Given the description of an element on the screen output the (x, y) to click on. 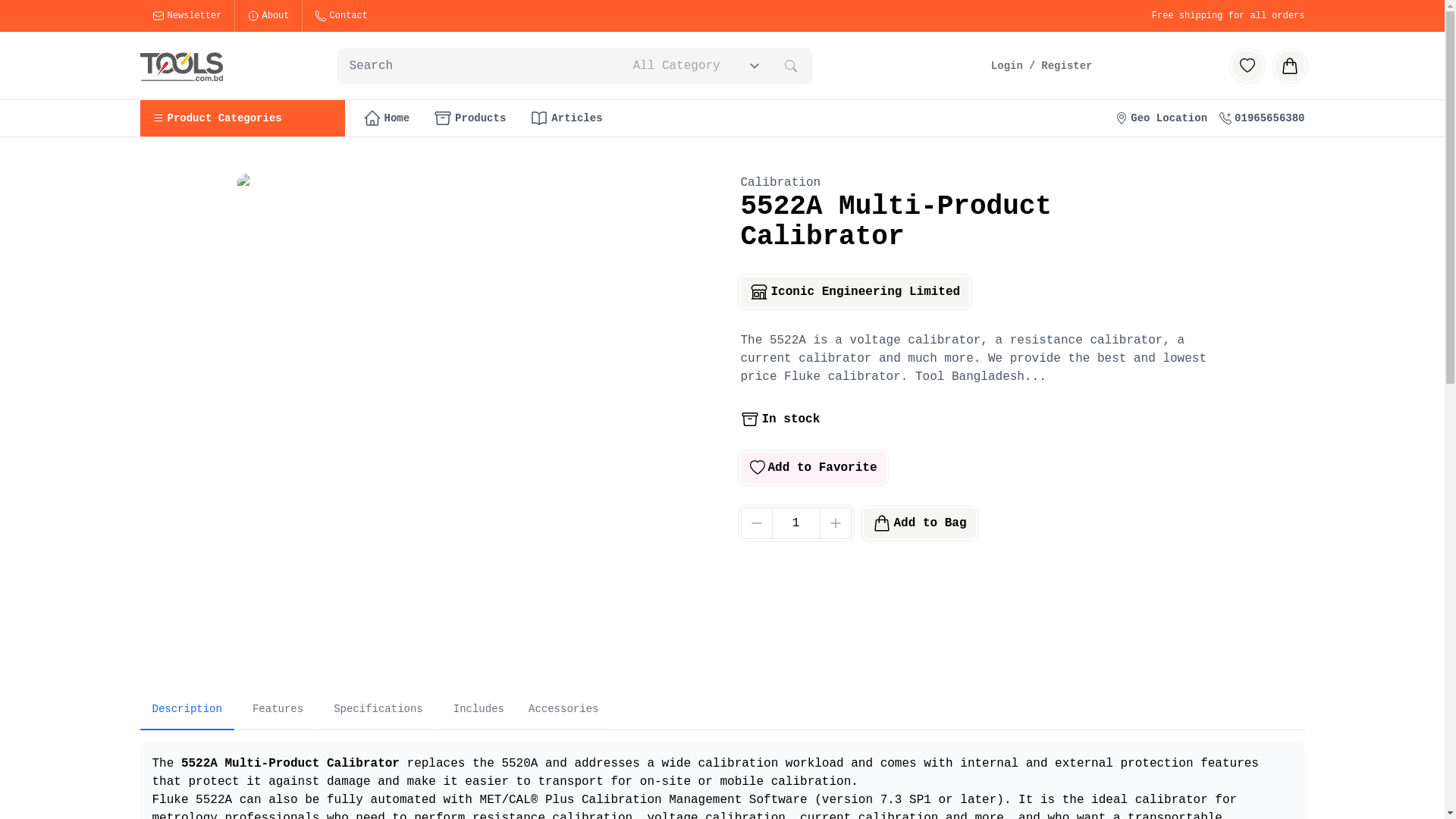
Newsletter Element type: text (186, 15)
Accessories Element type: text (563, 709)
Geo Location Element type: text (1161, 117)
Includes Element type: text (478, 709)
Home Element type: text (385, 118)
Contact Element type: text (340, 15)
Add to Bag Element type: text (918, 523)
Articles Element type: text (566, 118)
Add to Favorite Element type: text (812, 467)
About Element type: text (267, 15)
Products Element type: text (469, 118)
01965656380 Element type: text (1261, 117)
Features Element type: text (277, 709)
Login Element type: text (1006, 64)
Calibration Element type: text (780, 182)
Description Element type: text (186, 709)
5522A Multi-Product Calibrator Element type: text (290, 763)
Specifications Element type: text (378, 709)
Register Element type: text (1066, 64)
